Given the description of an element on the screen output the (x, y) to click on. 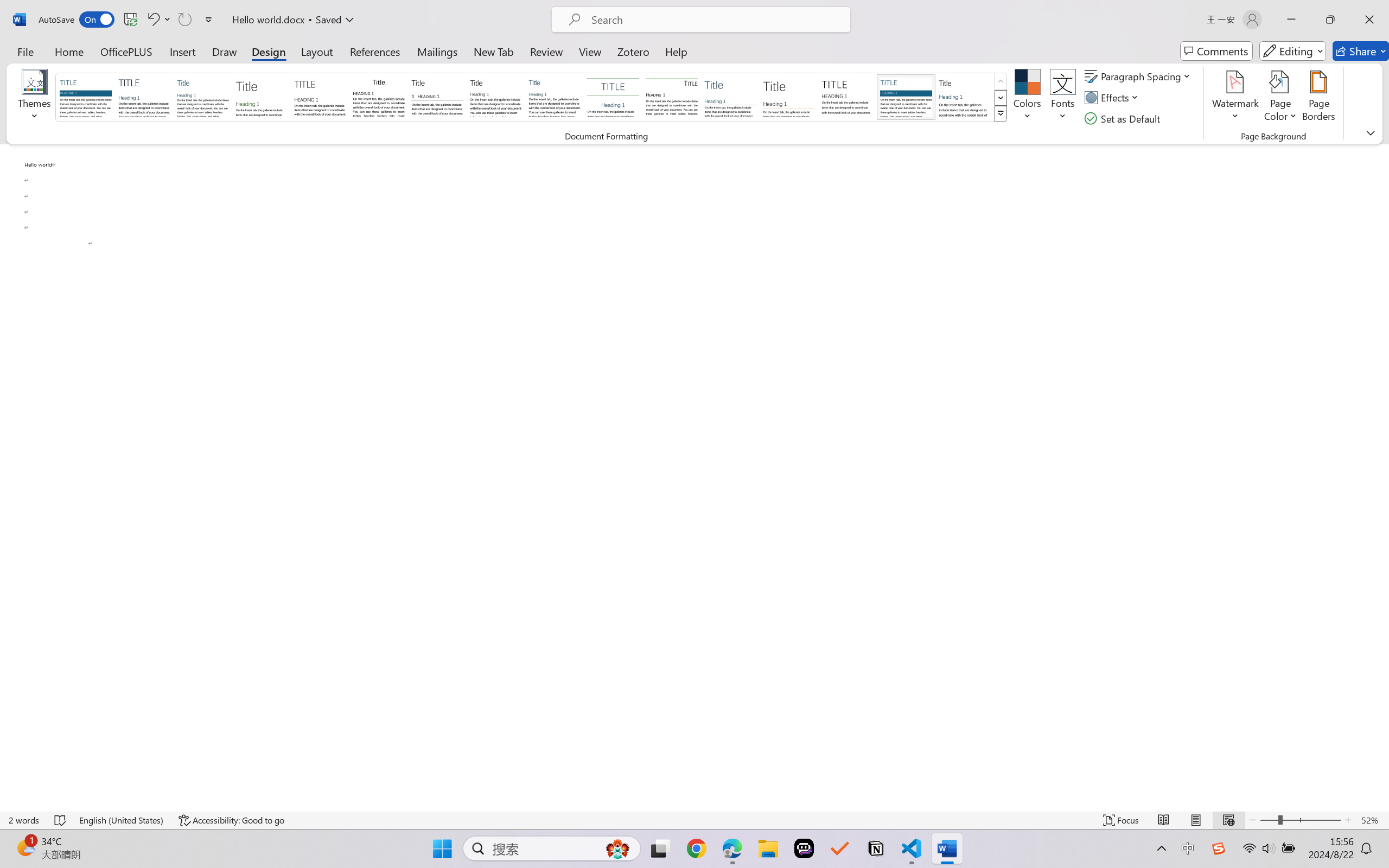
Minimize (1291, 19)
Review (546, 51)
Microsoft search (715, 19)
Class: MsoCommandBar (694, 819)
Effects (1113, 97)
Word (964, 96)
Save (130, 19)
Editing (1292, 50)
Share (1360, 51)
Mailings (437, 51)
Casual (554, 96)
Style Set (1000, 113)
Ribbon Display Options (1370, 132)
Close (1369, 19)
Zoom (1300, 819)
